Given the description of an element on the screen output the (x, y) to click on. 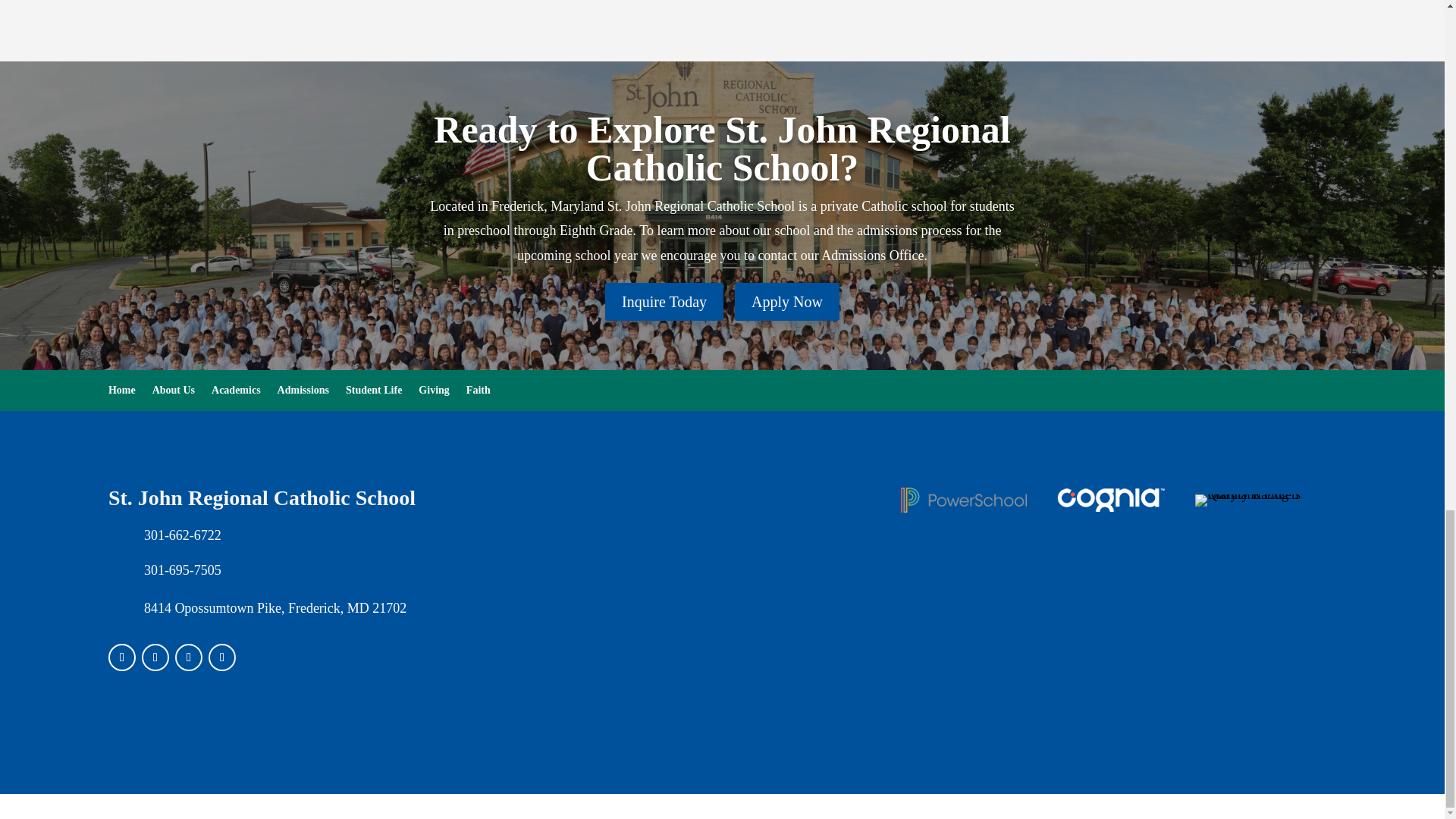
Follow on X (188, 656)
cognia-logo (1111, 499)
power-school-logo (963, 499)
Follow on Instagram (154, 656)
excels-logo (1257, 500)
Follow on Youtube (221, 656)
Follow on Facebook (121, 656)
